Given the description of an element on the screen output the (x, y) to click on. 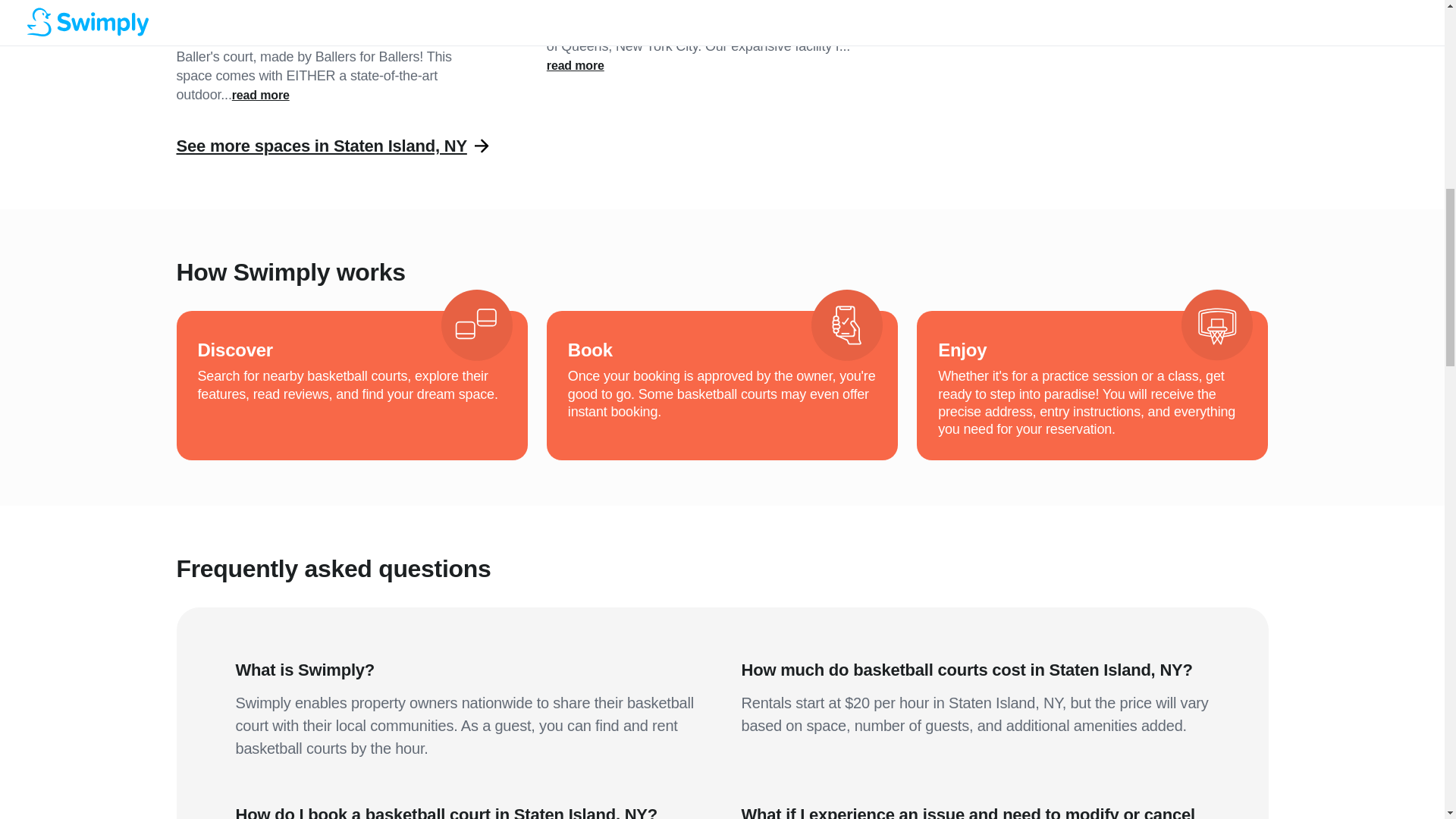
See more spaces in Staten Island, NY (320, 145)
read more (575, 65)
read more (260, 95)
